Given the description of an element on the screen output the (x, y) to click on. 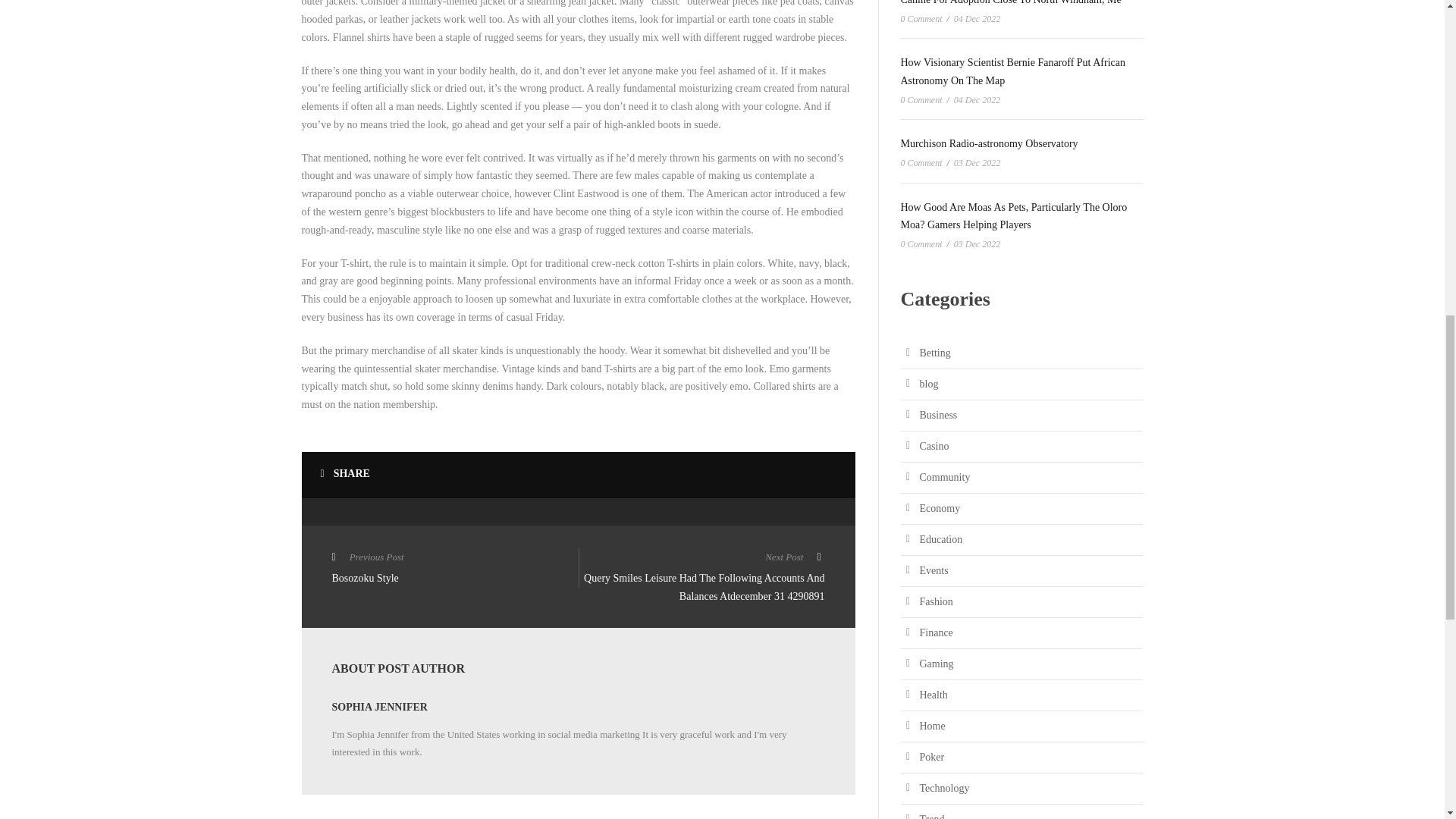
Posts by Sophia Jennifer (379, 706)
SOPHIA JENNIFER (379, 706)
